Given the description of an element on the screen output the (x, y) to click on. 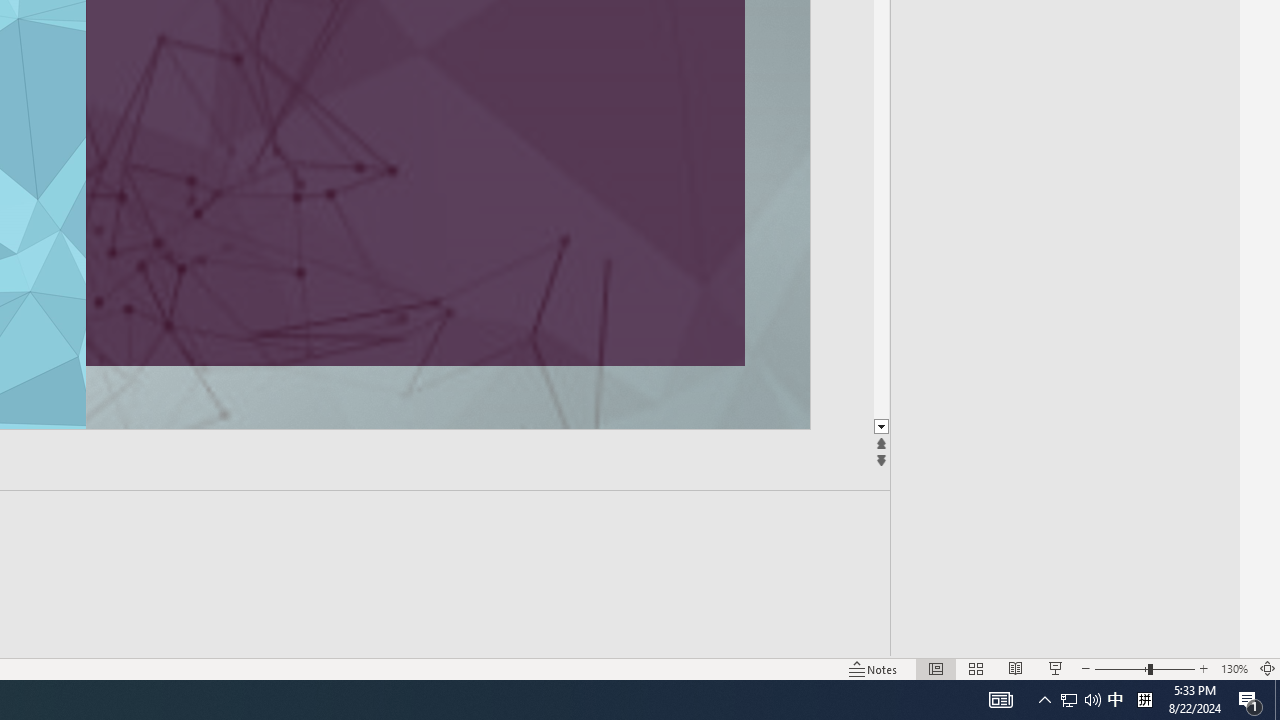
Zoom 130% (1234, 668)
